Given the description of an element on the screen output the (x, y) to click on. 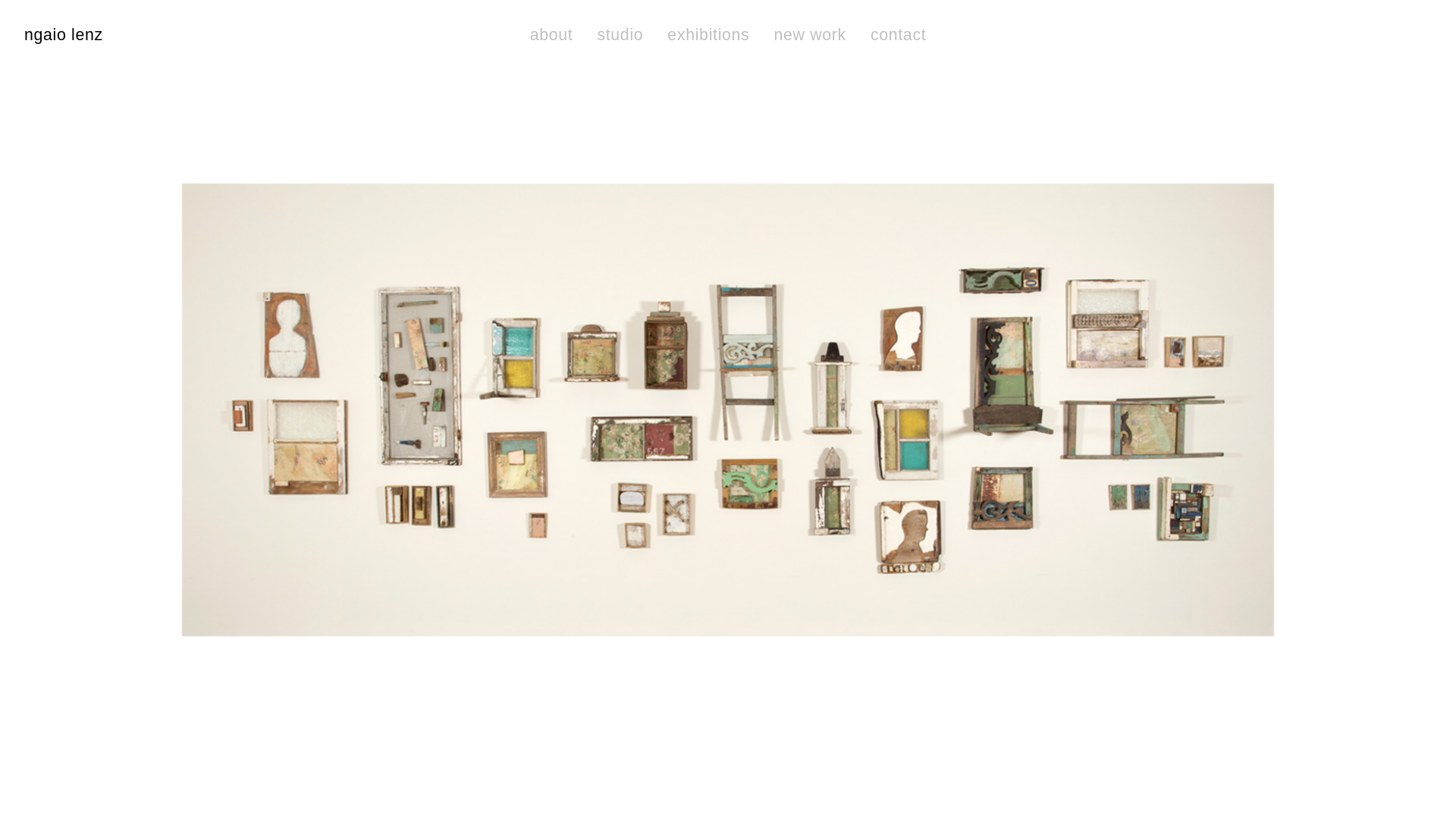
ngaio lenz Element type: text (63, 34)
studio Element type: text (619, 35)
exhibitions Element type: text (708, 35)
about Element type: text (551, 35)
contact Element type: text (897, 35)
new work Element type: text (809, 35)
